Given the description of an element on the screen output the (x, y) to click on. 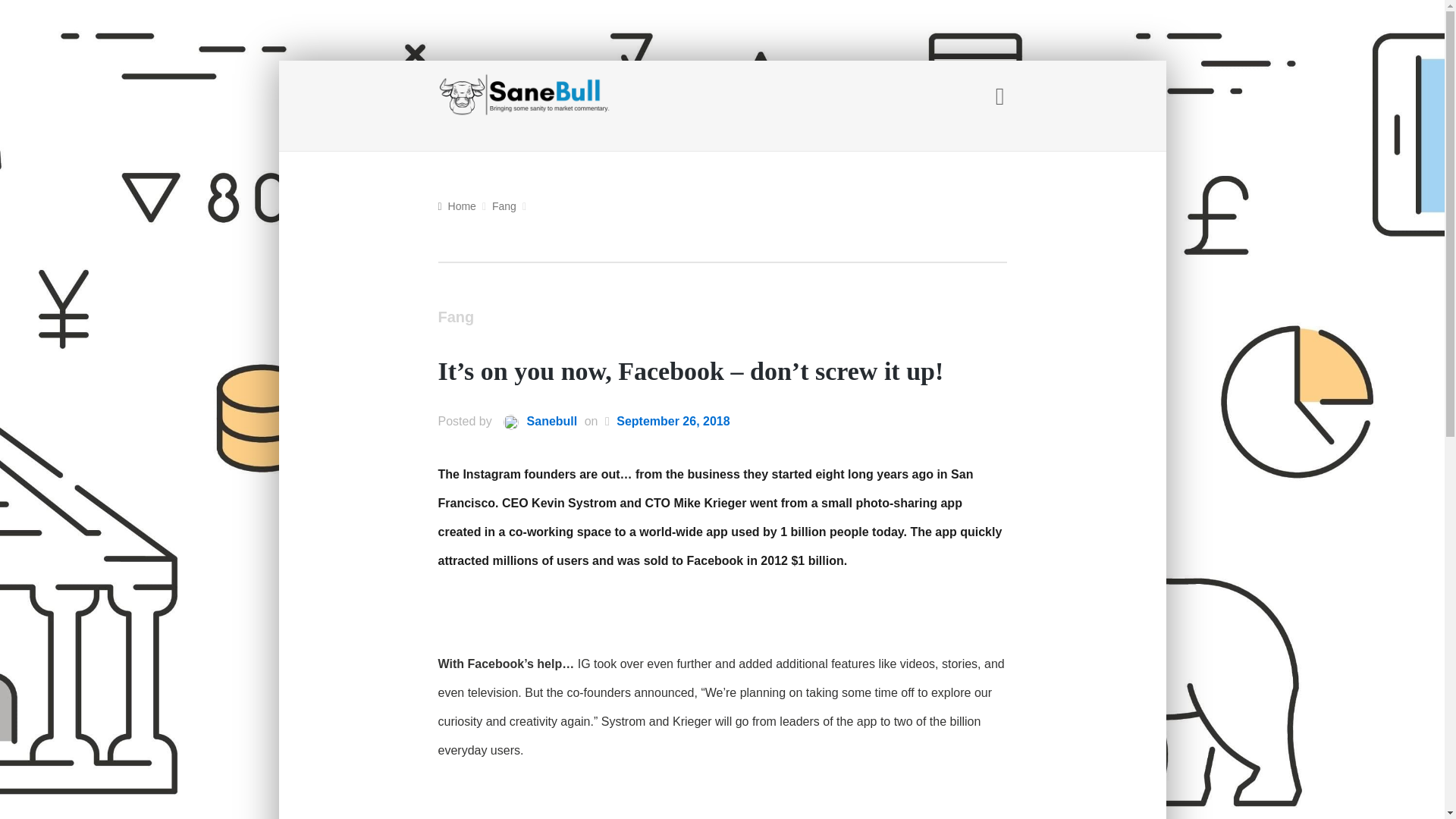
Fang (504, 206)
Sanebull (535, 421)
September 26, 2018 (672, 421)
See articles from category - Fang (456, 318)
posted on September 26, 2018 (672, 421)
See articles from category - Fang (504, 206)
Fang (456, 318)
Posted by Sanebull (535, 421)
Home (457, 205)
go home (457, 205)
